Given the description of an element on the screen output the (x, y) to click on. 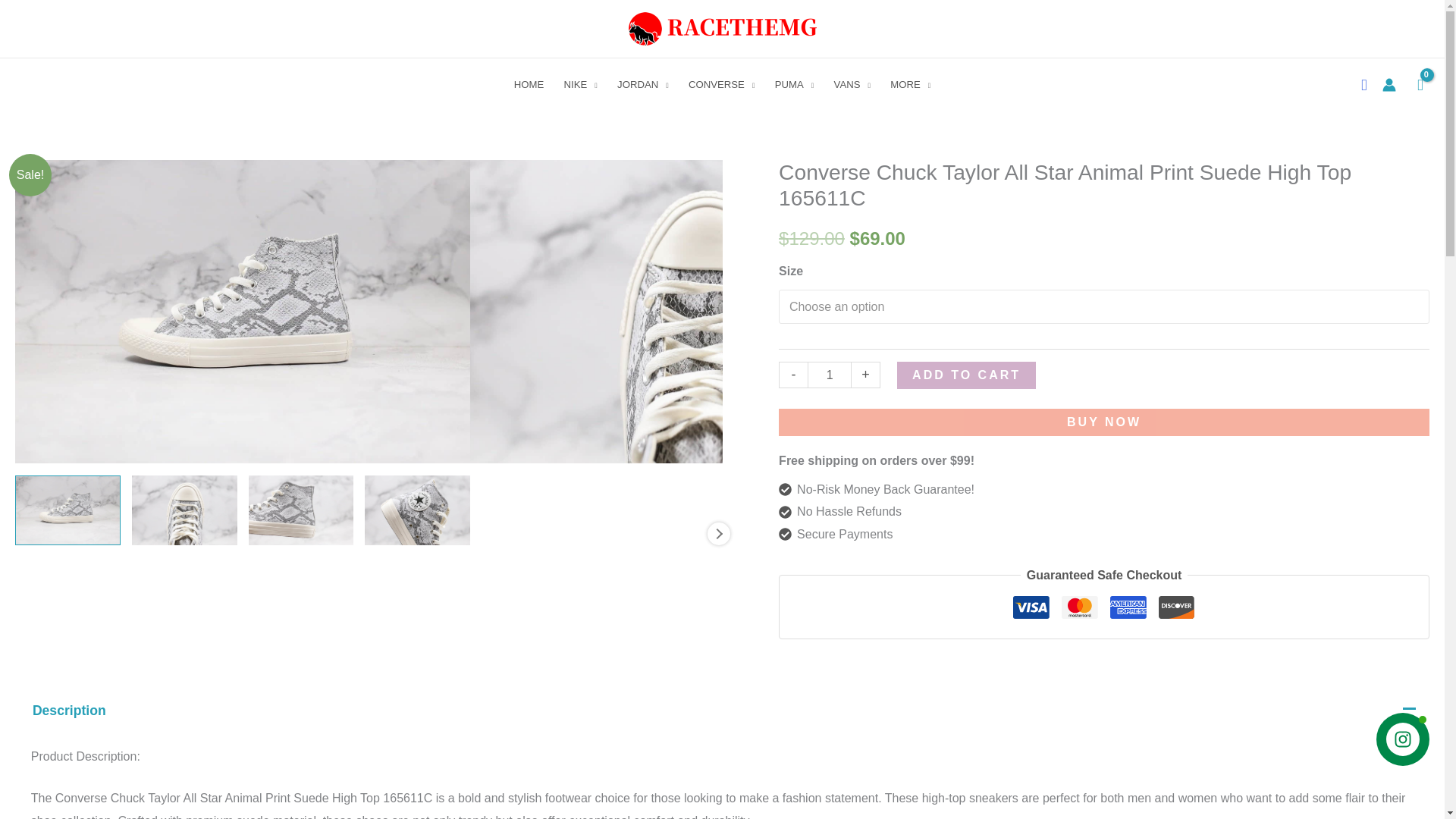
1 (829, 374)
Converse Chuck Taylor Animal Print Suede High Tops - 165611C (184, 510)
Converse Chuck Taylor Animal Print Suede High Tops - 165611C (417, 510)
HOME (528, 84)
Converse Chuck Taylor Animal Print Suede High Tops - 165611C (650, 527)
Converse Chuck Taylor Animal Print Suede High Tops - 165611C (721, 28)
Converse Chuck Taylor Animal Print Suede High Tops - 165611C (533, 527)
Converse Chuck Taylor Animal Print Suede High Tops - 165611C (300, 510)
NIKE (580, 84)
Converse Chuck Taylor Animal Print Suede High Tops - 165611C (67, 510)
